Given the description of an element on the screen output the (x, y) to click on. 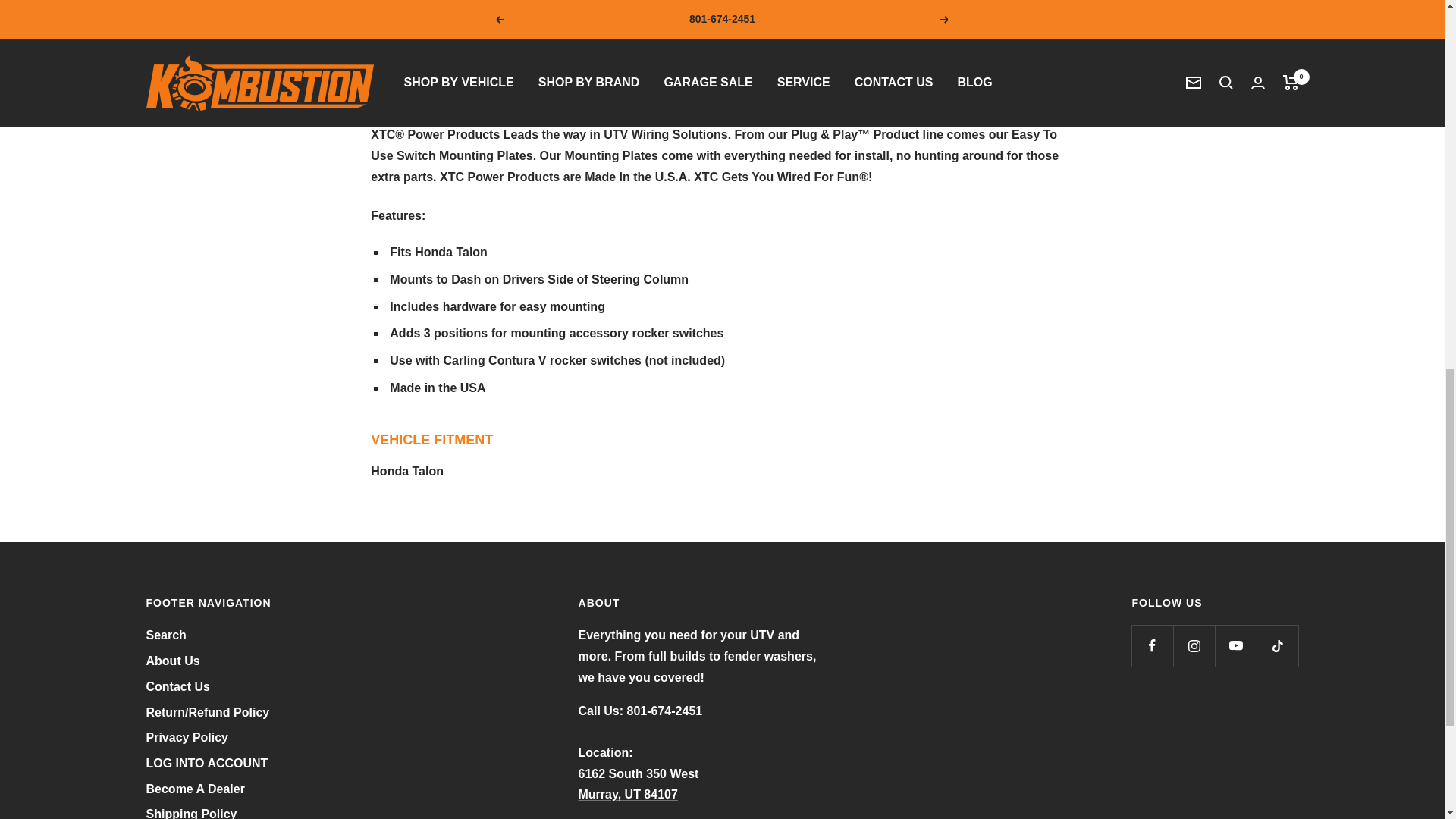
tel:8016742451 (665, 710)
Kombustion Motorsports Address (638, 784)
